Given the description of an element on the screen output the (x, y) to click on. 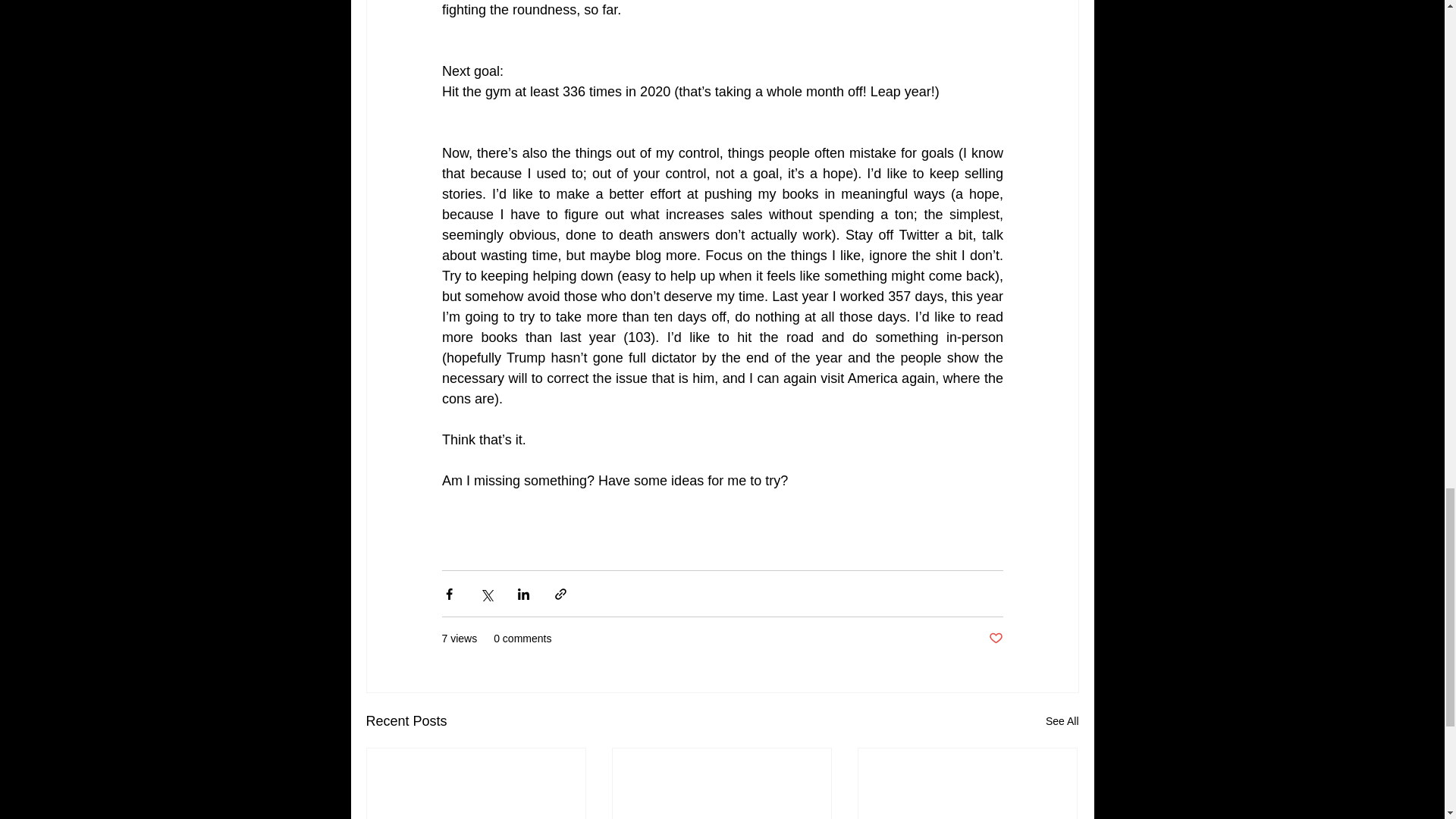
See All (1061, 721)
Post not marked as liked (995, 638)
